Given the description of an element on the screen output the (x, y) to click on. 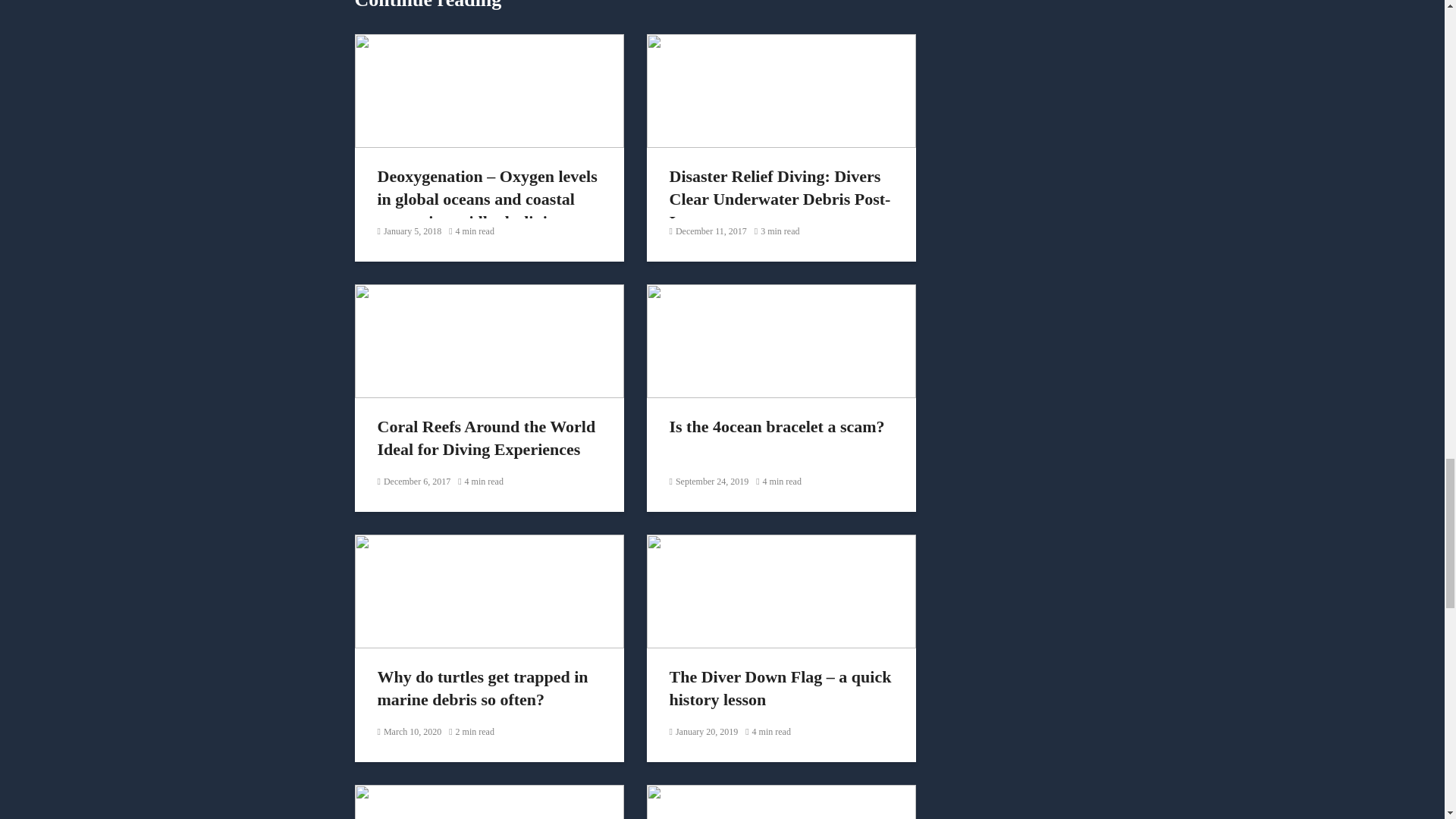
Is the 4ocean bracelet a scam? (780, 338)
Coral Reefs Around the World Ideal for Diving Experiences (489, 338)
Why do turtles get trapped in marine debris so often? (489, 589)
